Given the description of an element on the screen output the (x, y) to click on. 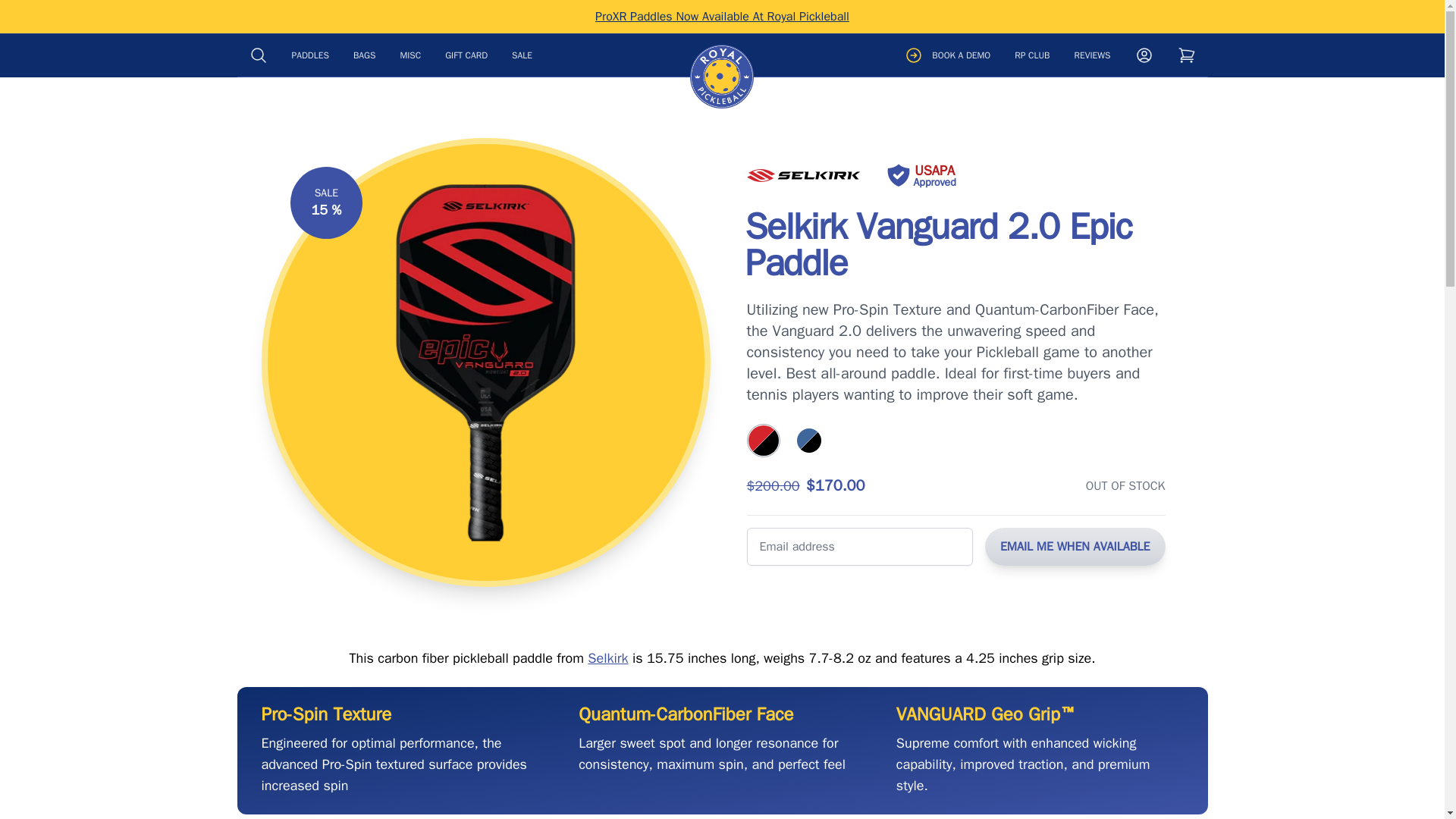
PADDLES (310, 55)
Search (257, 54)
Selkirk Vanguard 2.0 Epic Paddle (485, 361)
Selkirk (607, 658)
Selkirk (802, 174)
RP CLUB (1031, 55)
Home (721, 76)
BAGS (364, 55)
MISC (409, 55)
ProXR Paddles Now Available At Royal Pickleball (721, 16)
